Given the description of an element on the screen output the (x, y) to click on. 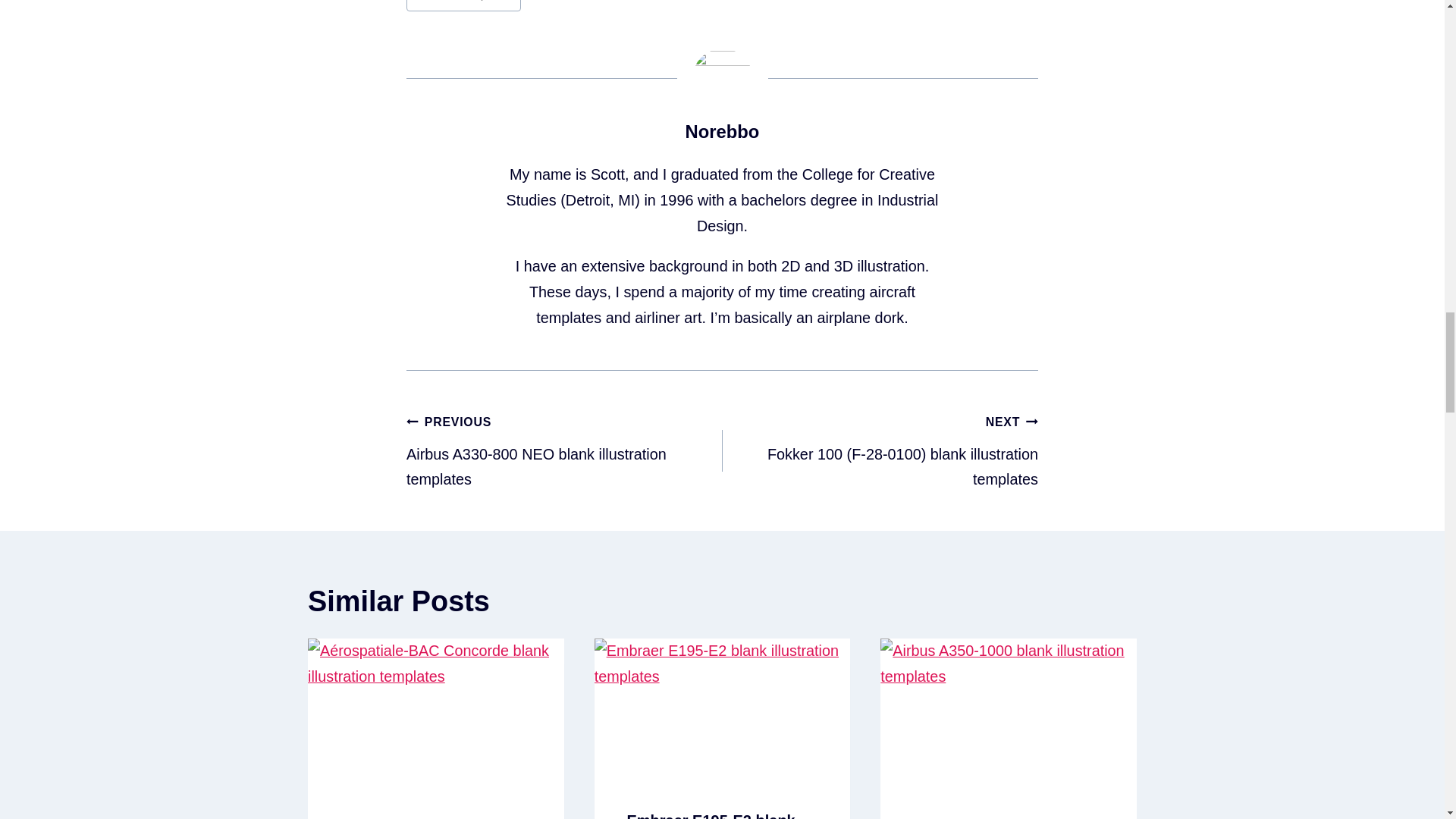
Norebbo (722, 131)
Posts by Norebbo (564, 450)
Embraer E195-E2 blank illustration templates (722, 131)
airliner templates (710, 815)
